Given the description of an element on the screen output the (x, y) to click on. 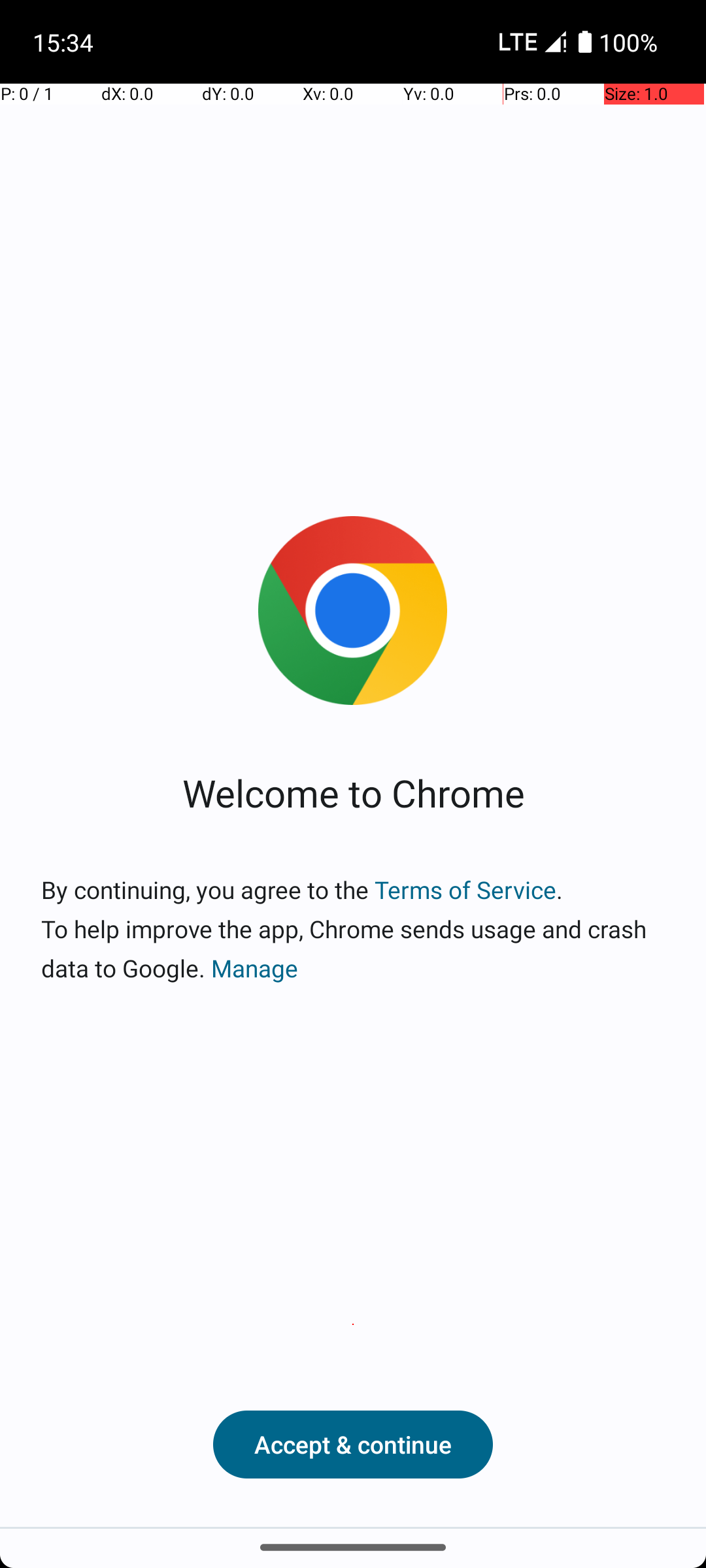
By continuing, you agree to the Terms of Service.
To help improve the app, Chrome sends usage and crash data to Google. Manage Element type: android.widget.TextView (352, 928)
